Given the description of an element on the screen output the (x, y) to click on. 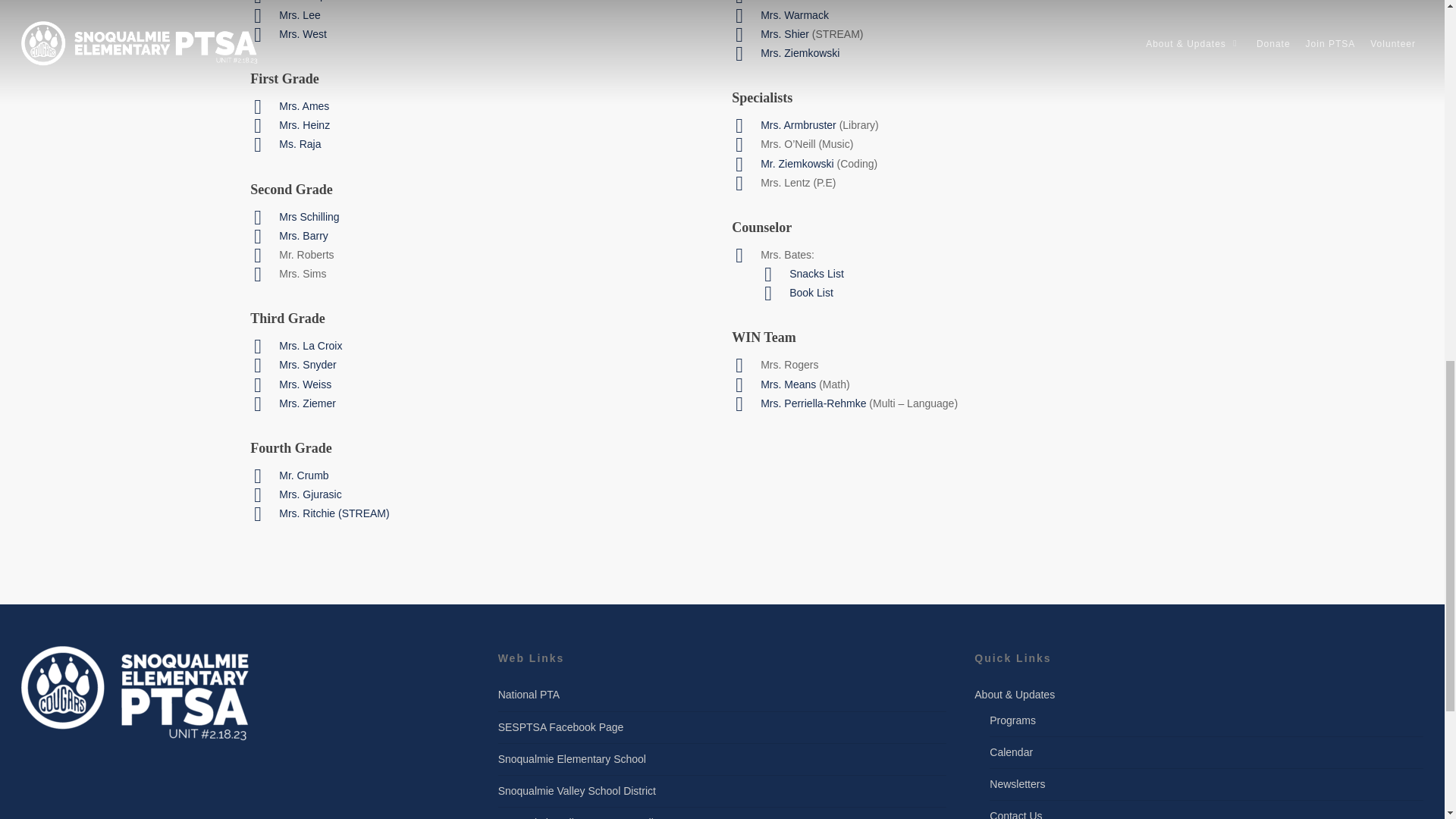
Mrs. Fitzpatrick (314, 0)
Mrs. Armbruster (797, 124)
Mr. Ziemkowski (796, 163)
Mrs. Ziemer (307, 403)
Mrs. Gjurasic (309, 494)
Mr. Crumb (304, 475)
Mrs Schilling (309, 216)
Mrs. Lee (299, 15)
Mrs. Barry (304, 235)
Mrs. La Croix (310, 345)
